Given the description of an element on the screen output the (x, y) to click on. 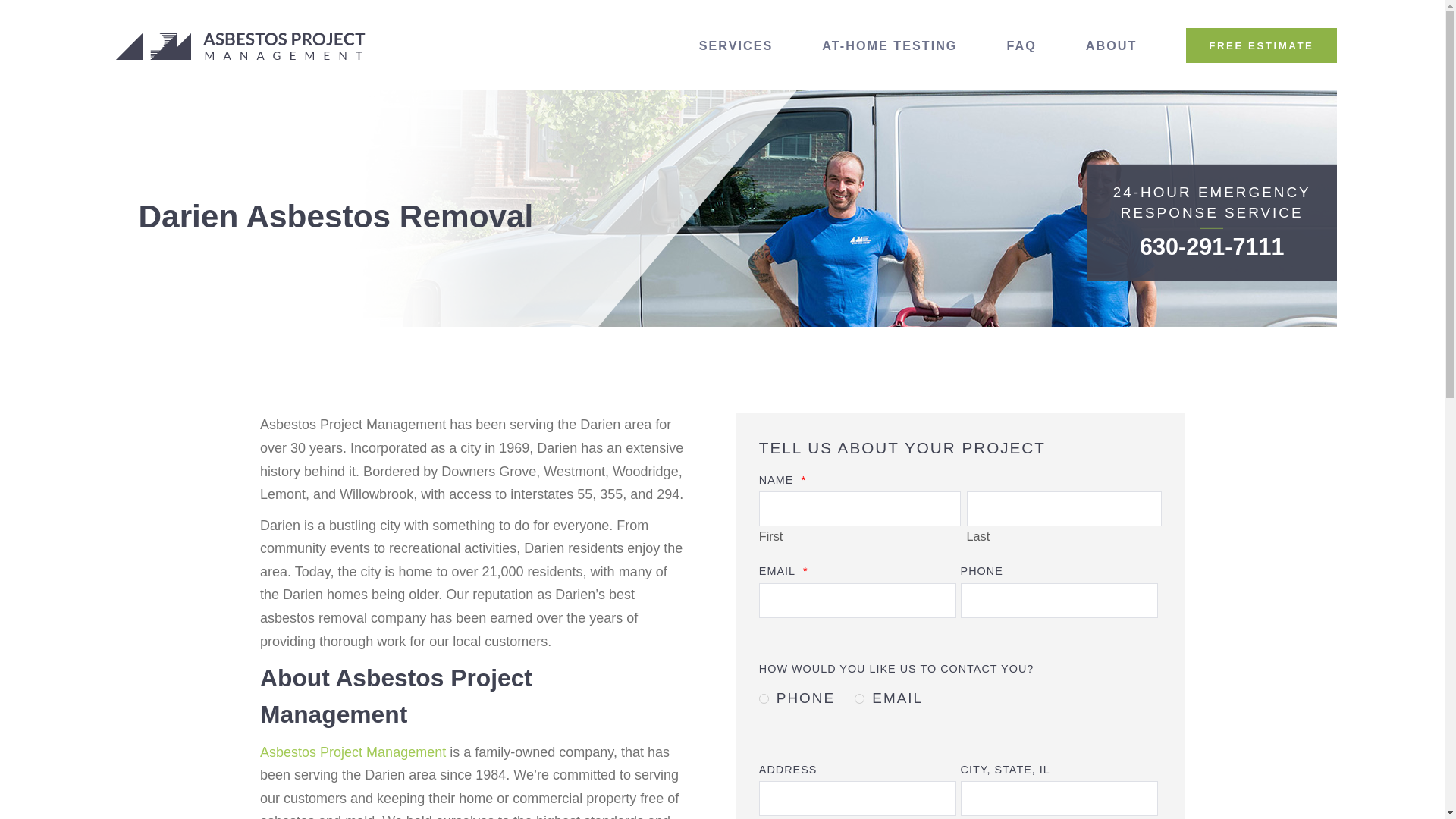
Phone (763, 698)
Asbestos Project Management (241, 45)
FREE ESTIMATE (1261, 45)
ABOUT (1111, 44)
AT-HOME TESTING (889, 44)
Email (859, 698)
FAQ (1021, 44)
Asbestos Project Management (352, 752)
SERVICES (736, 44)
